Given the description of an element on the screen output the (x, y) to click on. 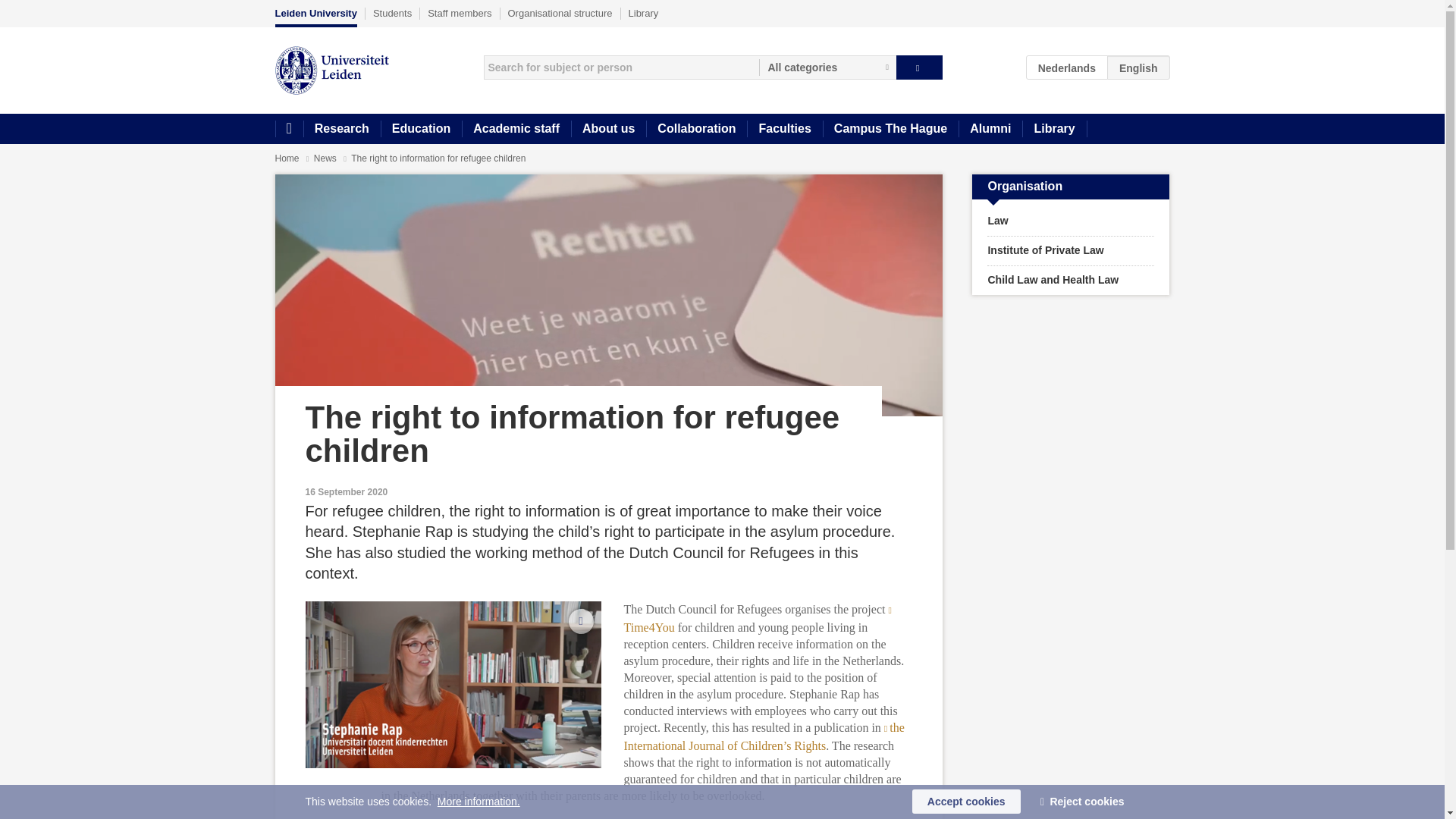
Library (643, 13)
Library (1054, 128)
Alumni (990, 128)
Leiden University (315, 17)
Organisational structure (560, 13)
Research (341, 128)
Education (420, 128)
Faculties (784, 128)
News (326, 158)
Staff members (460, 13)
Home (286, 158)
Time4You (758, 617)
Campus The Hague (890, 128)
About us (608, 128)
Collaboration (696, 128)
